Given the description of an element on the screen output the (x, y) to click on. 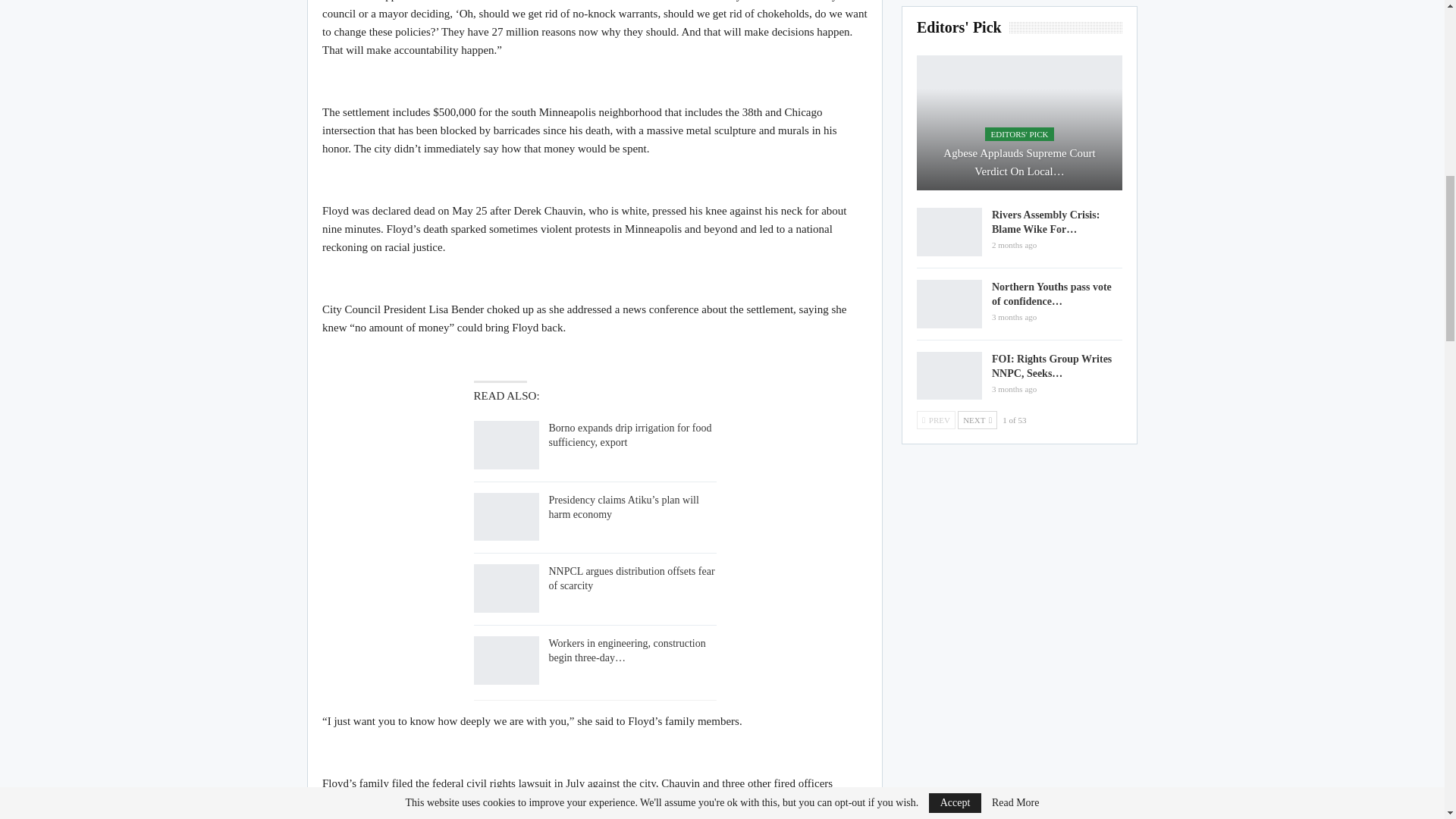
NNPCL argues distribution offsets fear of scarcity (631, 578)
NNPCL argues distribution offsets fear of scarcity (505, 588)
Borno expands drip irrigation for food sufficiency, export (629, 434)
Borno expands drip irrigation for food sufficiency, export (505, 444)
